Given the description of an element on the screen output the (x, y) to click on. 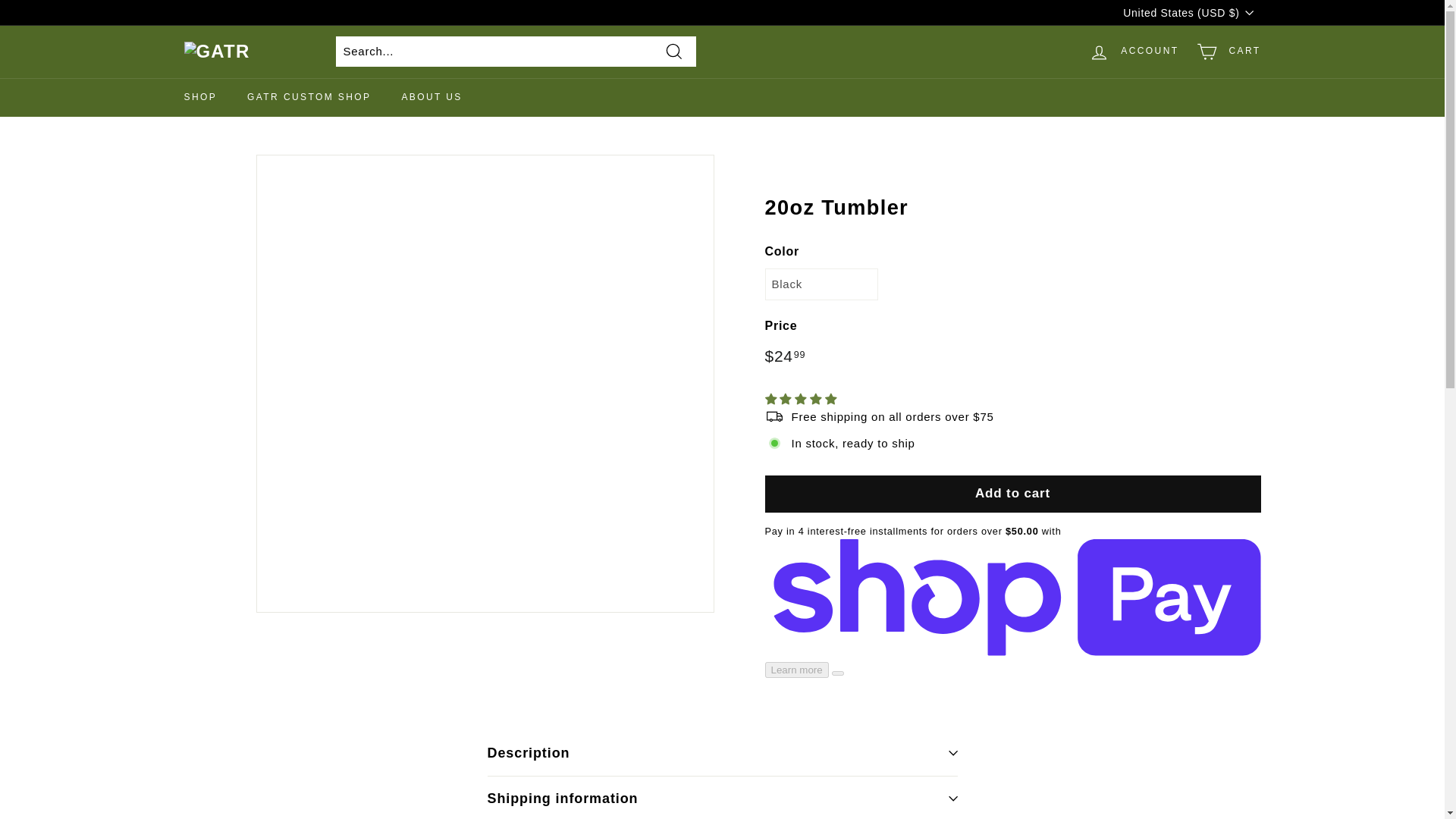
ACCOUNT (1134, 50)
SHOP (199, 96)
